Given the description of an element on the screen output the (x, y) to click on. 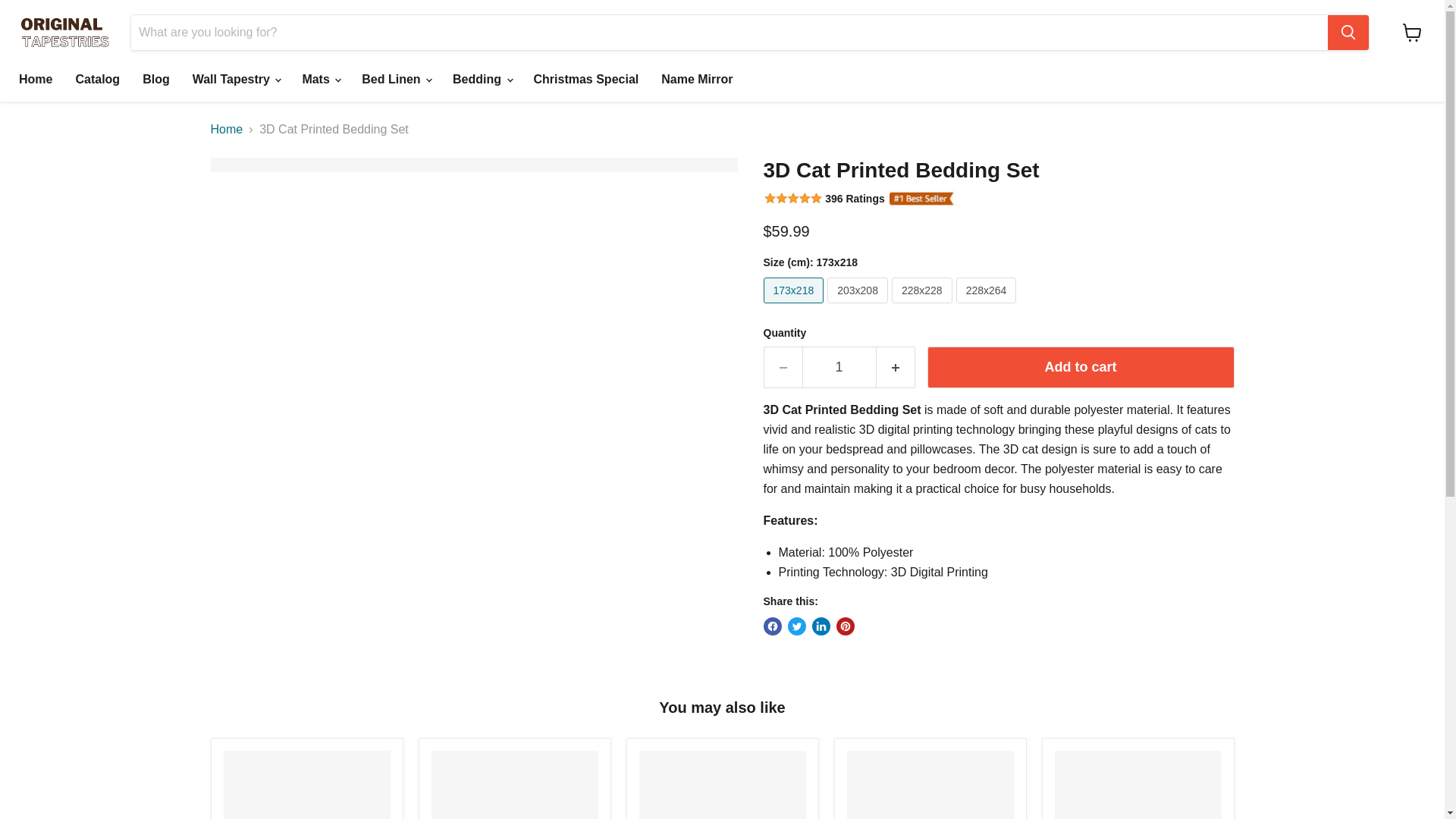
Blog (155, 79)
1 (839, 367)
Catalog (97, 79)
Home (35, 79)
View cart (1411, 32)
